Given the description of an element on the screen output the (x, y) to click on. 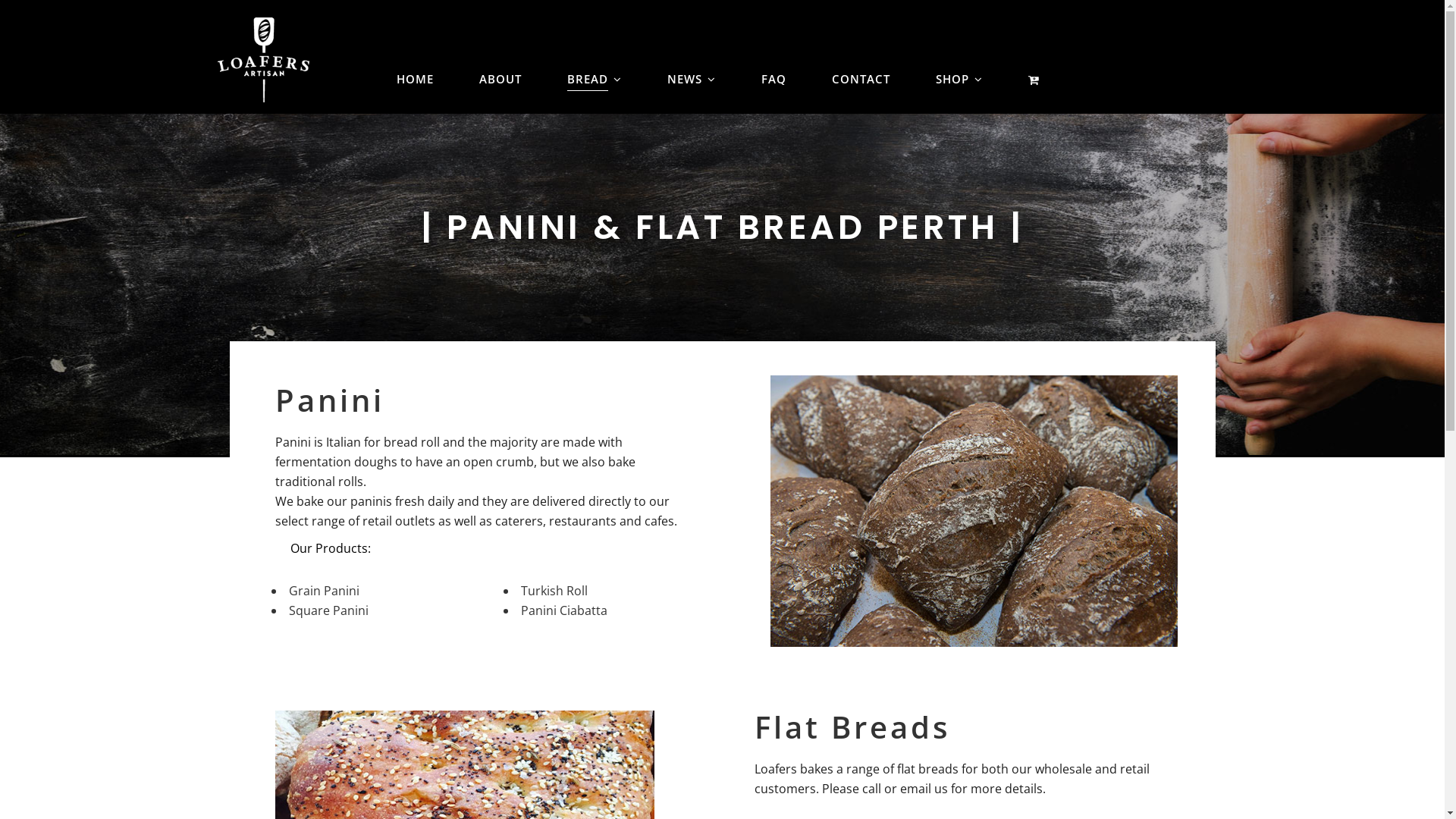
BREAD Element type: text (594, 56)
FAQ Element type: text (773, 56)
ABOUT Element type: text (500, 56)
NEWS Element type: text (691, 56)
HOME Element type: text (414, 56)
CONTACT Element type: text (861, 56)
SHOP Element type: text (959, 56)
  Element type: text (1038, 56)
